Given the description of an element on the screen output the (x, y) to click on. 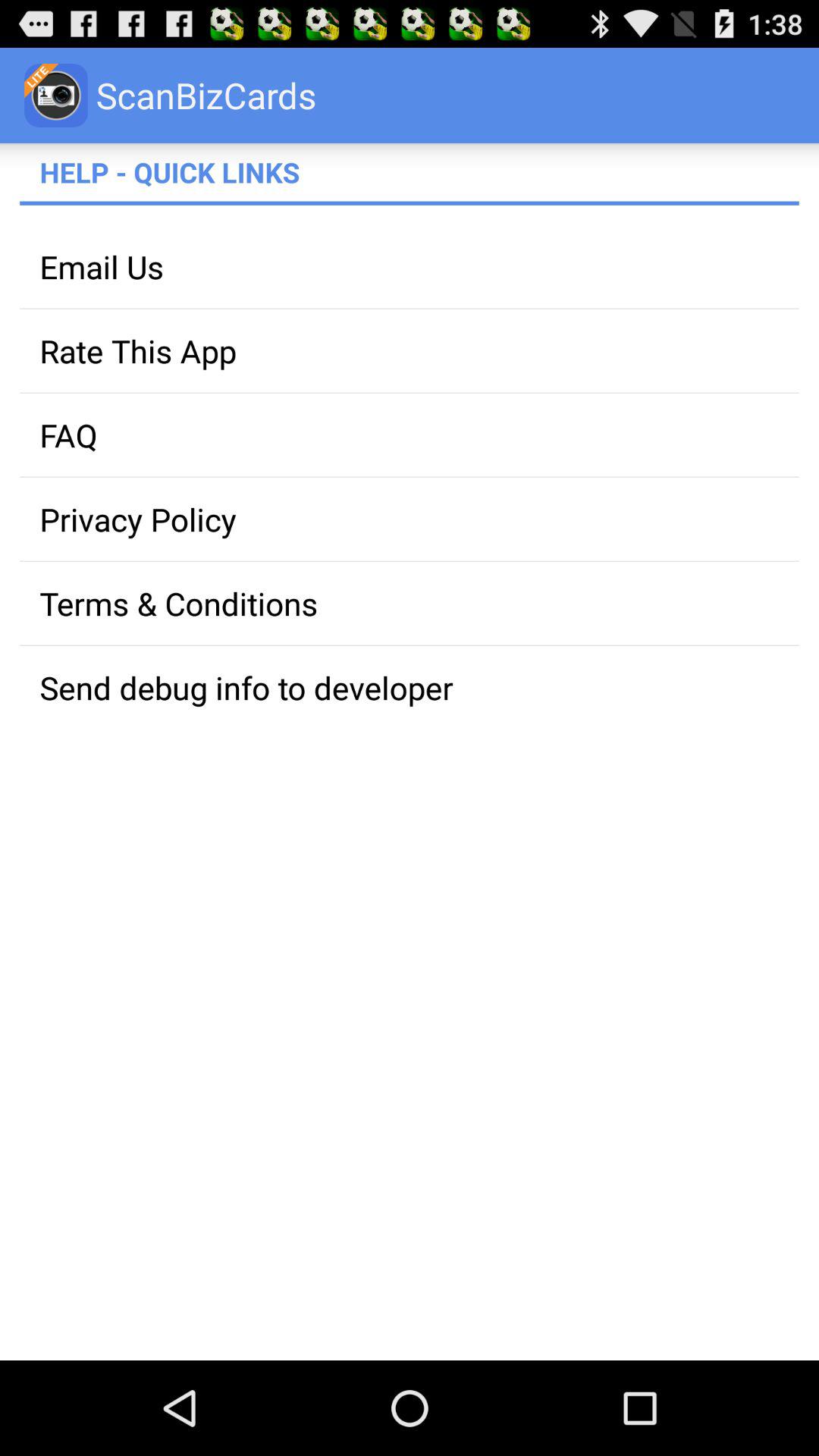
swipe until the email us (409, 266)
